Given the description of an element on the screen output the (x, y) to click on. 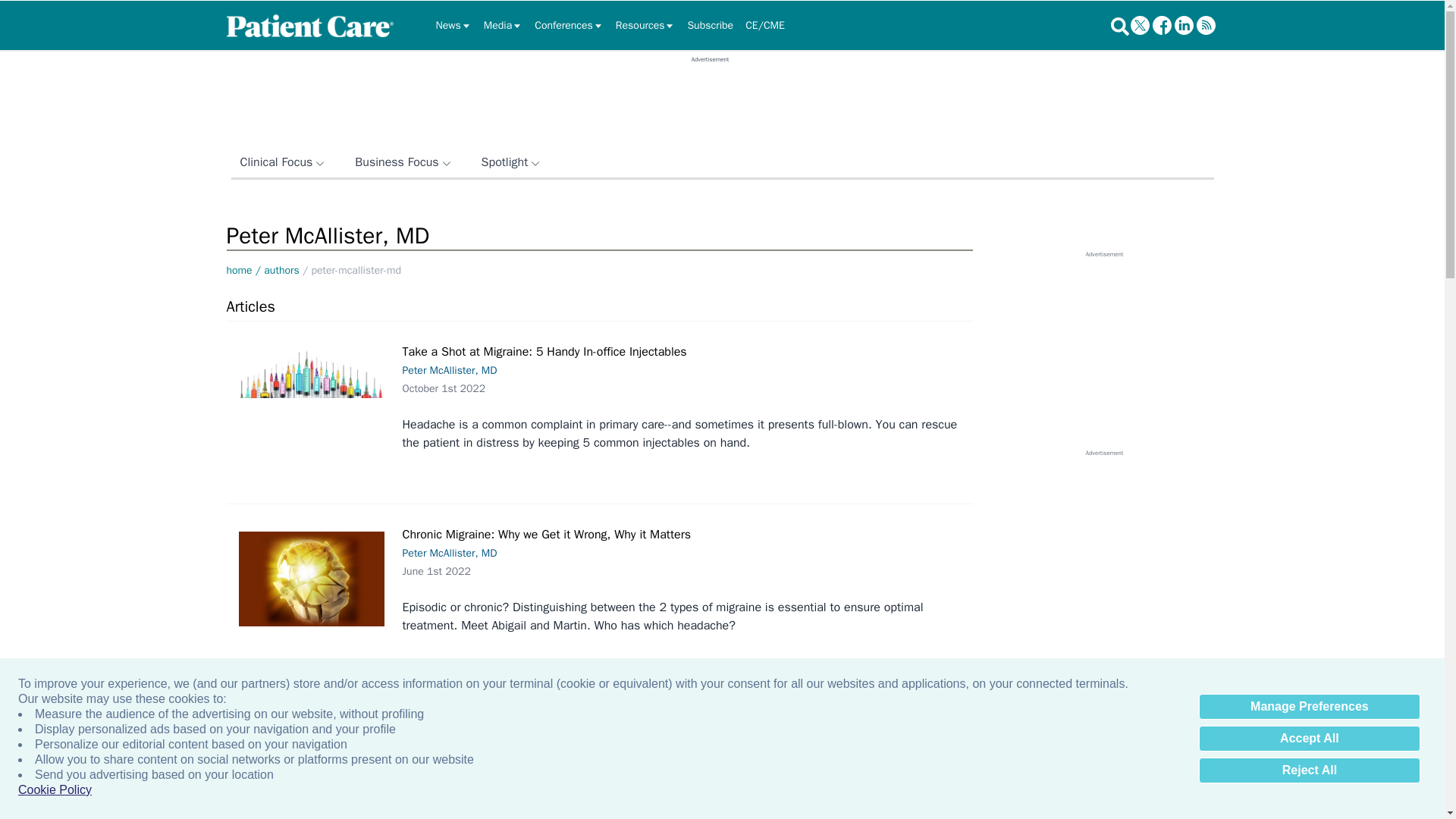
Take a Shot at Migraine: 5 Handy In-office Injectables  (311, 373)
Accept All (1309, 738)
Cookie Policy (54, 789)
3rd party ad content (709, 97)
Chronic Migraine: Why we Get it Wrong, Why it Matters  (311, 578)
3rd party ad content (1103, 552)
Manage Preferences (1309, 706)
3rd party ad content (1103, 352)
Reject All (1309, 769)
Subscribe (710, 25)
